Given the description of an element on the screen output the (x, y) to click on. 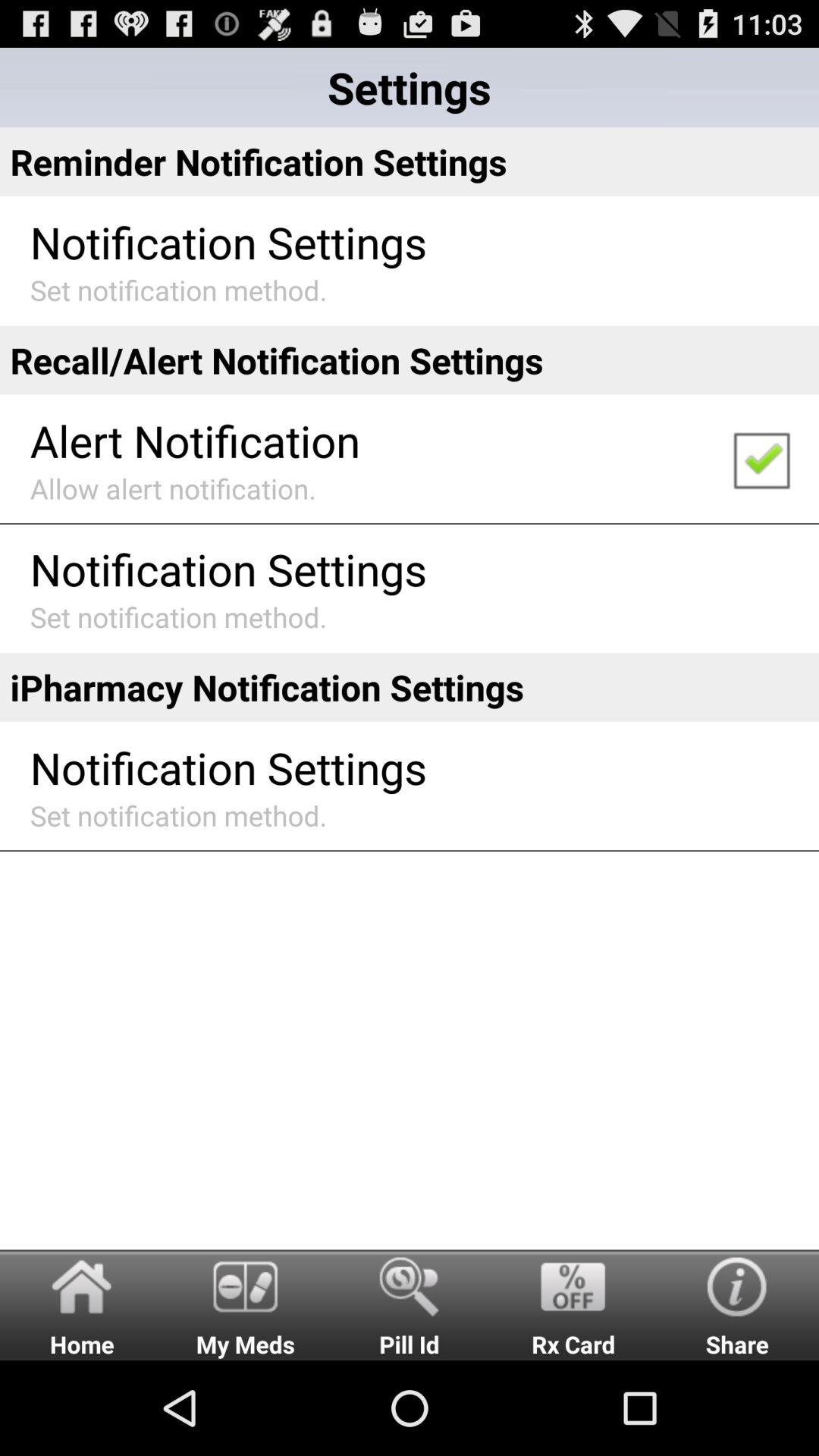
choose share item (737, 1304)
